Given the description of an element on the screen output the (x, y) to click on. 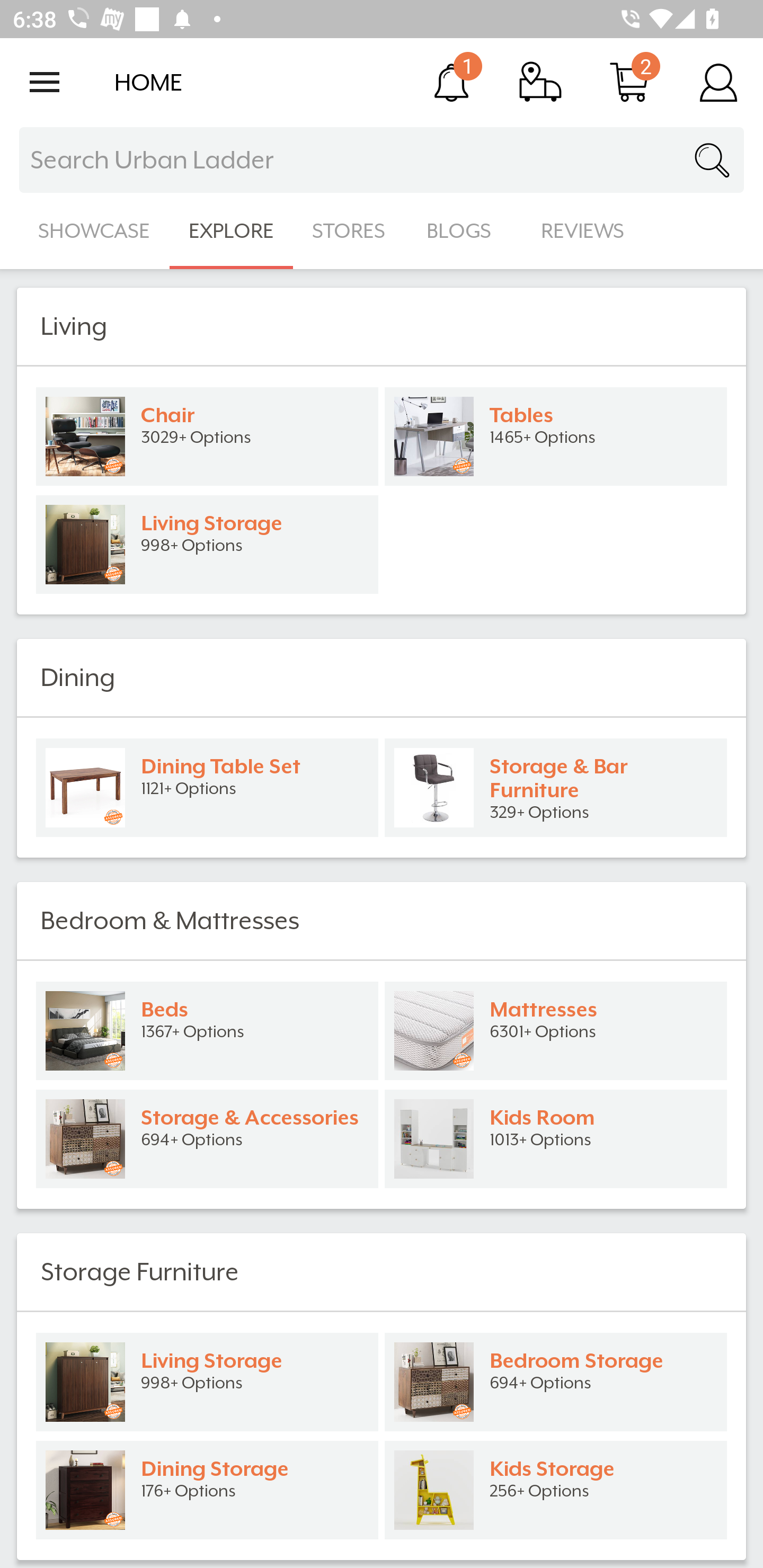
Open navigation drawer (44, 82)
Notification (450, 81)
Track Order (540, 81)
Cart (629, 81)
Account Details (718, 81)
Search Urban Ladder  (381, 159)
SHOWCASE (94, 230)
EXPLORE (230, 230)
STORES (349, 230)
BLOGS (464, 230)
REVIEWS (582, 230)
Chair 3029+ Options (206, 436)
Tables 1465+ Options (555, 436)
Living Storage 998+ Options (206, 544)
Dining Table Set 1121+ Options (206, 787)
Storage & Bar Furniture 329+ Options (555, 787)
Beds 1367+ Options (206, 1030)
Mattresses 6301+ Options (555, 1030)
Storage & Accessories 694+ Options (206, 1139)
Kids Room 1013+ Options (555, 1139)
Living Storage 998+ Options (206, 1382)
Bedroom Storage 694+ Options (555, 1382)
Dining Storage 176+ Options (206, 1490)
Kids Storage 256+ Options (555, 1490)
